Given the description of an element on the screen output the (x, y) to click on. 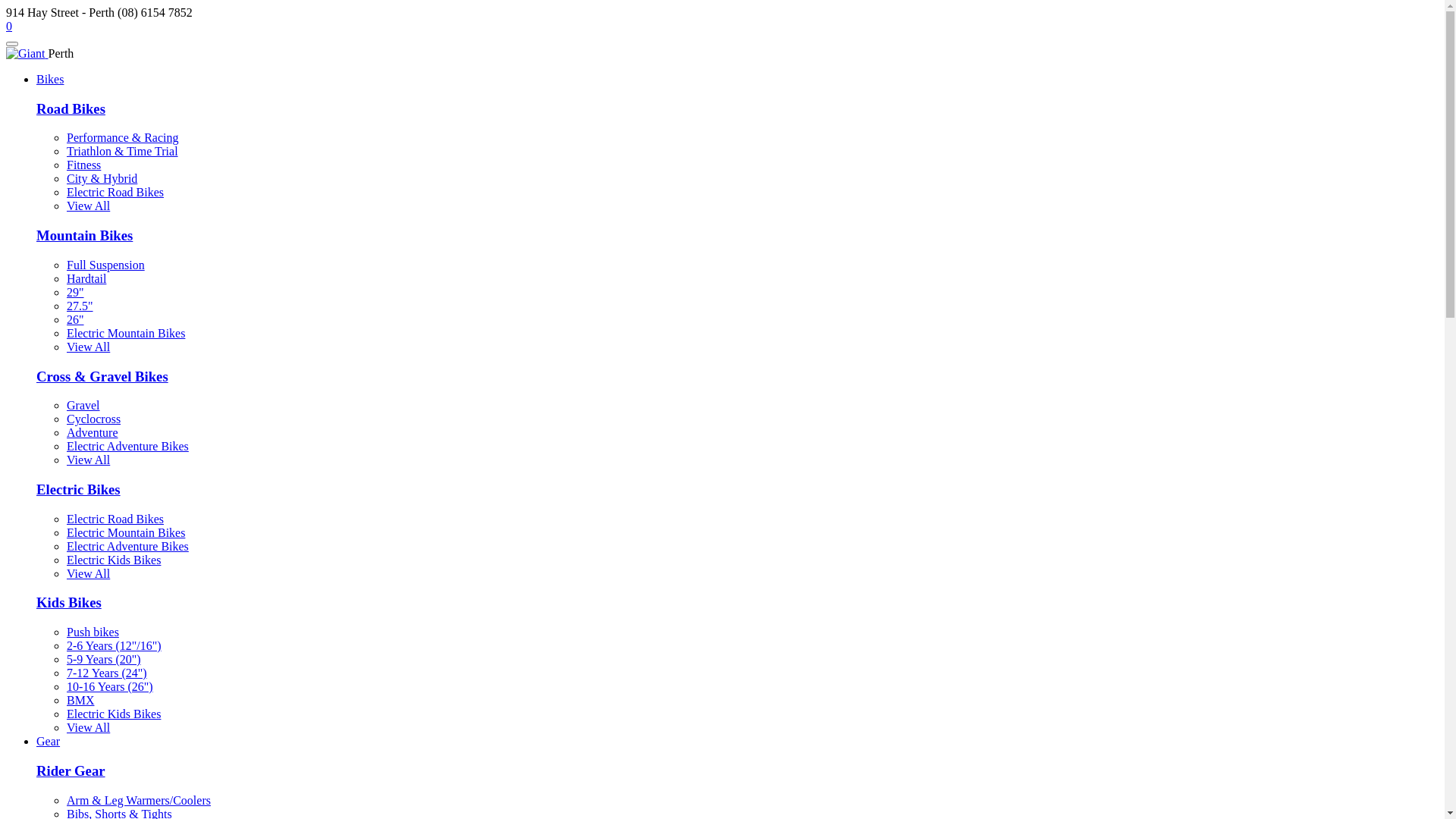
Electric Bikes Element type: text (78, 489)
27.5" Element type: text (79, 305)
Electric Adventure Bikes Element type: text (127, 445)
Bikes Element type: text (49, 78)
Rider Gear Element type: text (70, 770)
Cyclocross Element type: text (93, 418)
Performance & Racing Element type: text (122, 137)
View All Element type: text (87, 573)
Push bikes Element type: text (92, 631)
Adventure Element type: text (92, 432)
BMX Element type: text (80, 699)
Fitness Element type: text (83, 164)
View All Element type: text (87, 459)
View All Element type: text (87, 727)
Electric Kids Bikes Element type: text (113, 559)
Arm & Leg Warmers/Coolers Element type: text (138, 799)
7-12 Years (24") Element type: text (106, 672)
0 item(s) in cart
0
Total amount Element type: text (9, 25)
Electric Mountain Bikes Element type: text (125, 532)
2-6 Years (12"/16") Element type: text (113, 645)
View All Element type: text (87, 346)
10-16 Years (26") Element type: text (109, 686)
View All Element type: text (87, 205)
Electric Mountain Bikes Element type: text (125, 332)
5-9 Years (20") Element type: text (103, 658)
Electric Adventure Bikes Element type: text (127, 545)
Triathlon & Time Trial Element type: text (122, 150)
City & Hybrid Element type: text (101, 178)
Gear Element type: text (47, 740)
Hardtail Element type: text (86, 278)
Electric Road Bikes Element type: text (114, 191)
Full Suspension Element type: text (105, 264)
Electric Kids Bikes Element type: text (113, 713)
29" Element type: text (75, 291)
Gravel Element type: text (83, 404)
Road Bikes Element type: text (70, 108)
Kids Bikes Element type: text (68, 602)
Mountain Bikes Element type: text (84, 235)
26" Element type: text (75, 319)
Cross & Gravel Bikes Element type: text (102, 376)
Electric Road Bikes Element type: text (114, 518)
